Given the description of an element on the screen output the (x, y) to click on. 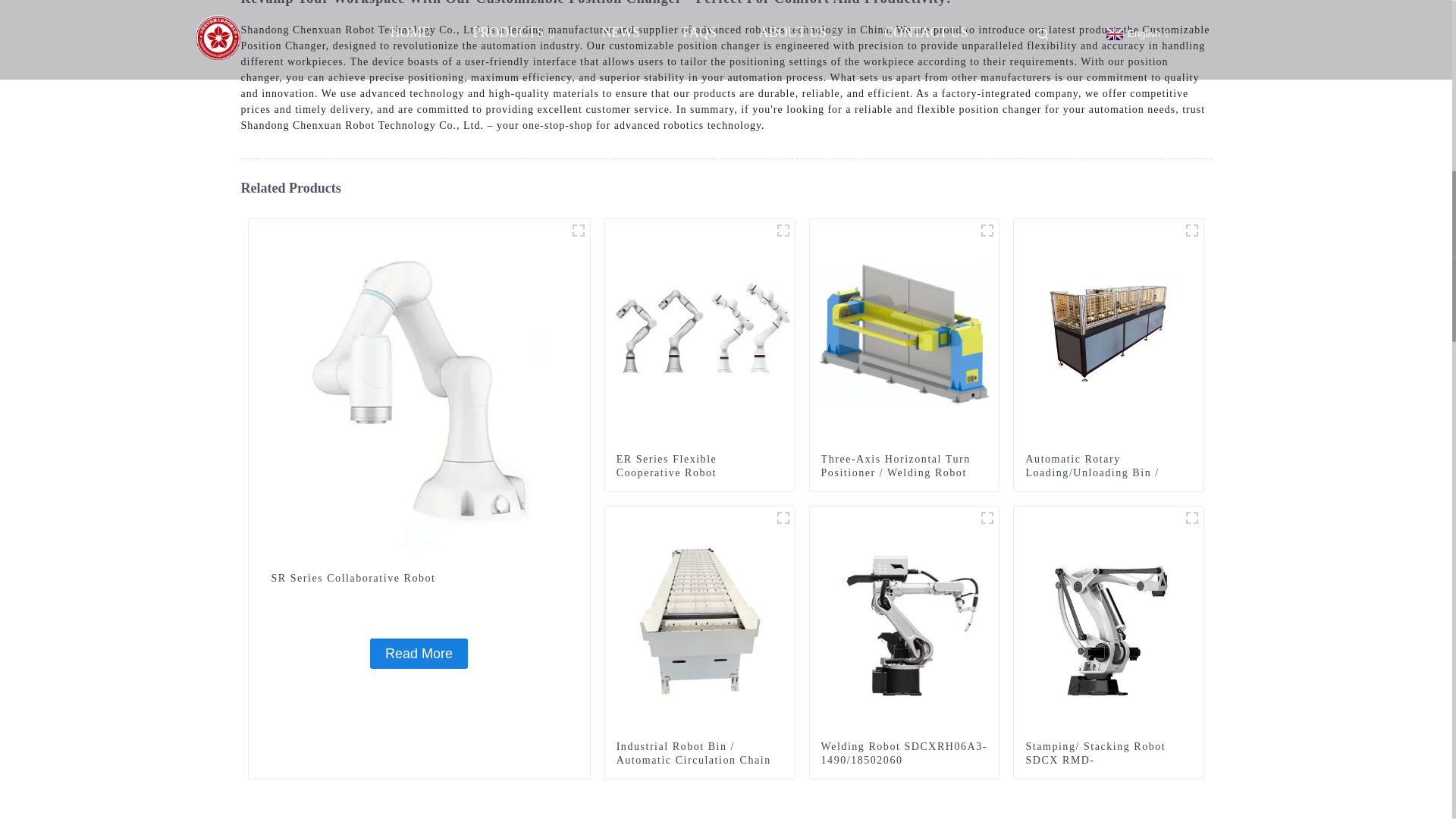
22 (782, 517)
SR Series Collaborative Robot (418, 387)
SR Series Collaborative Robot (418, 653)
SR Series Collaborative Robot (418, 578)
ER Series Flexible Cooperative Robot (699, 465)
ER Series Flexible Cooperative Robot (699, 332)
11 (1192, 230)
SR Series Collaborative Robot (418, 578)
Read More (418, 653)
ER Series Flexible Cooperative Robot (699, 465)
